Given the description of an element on the screen output the (x, y) to click on. 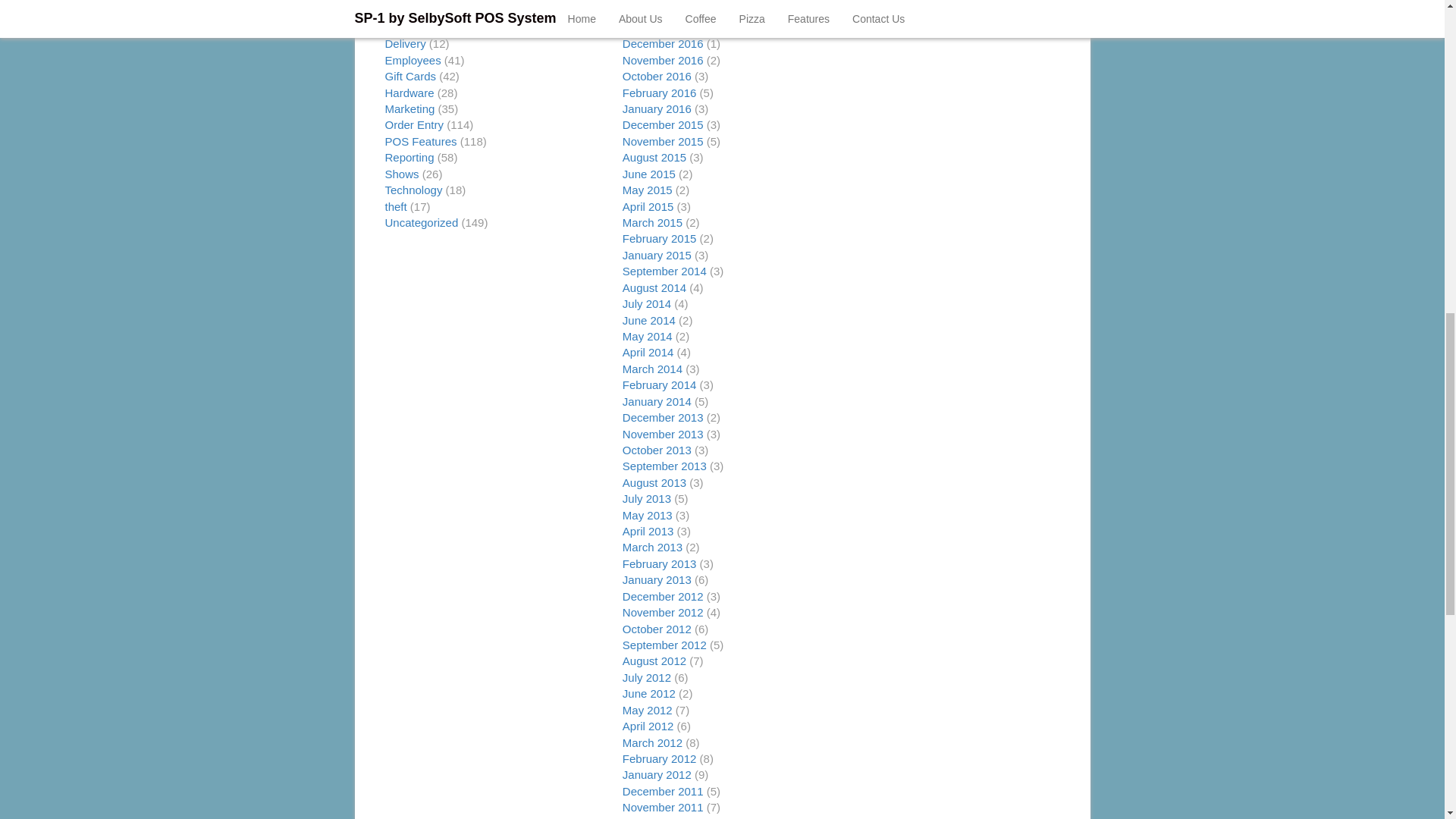
POS Features (421, 141)
Order Entry (414, 124)
November 2015 (663, 141)
February 2016 (660, 92)
December 2016 (663, 42)
Employees (413, 60)
August 2015 (654, 156)
Delivery (405, 42)
Technology (413, 189)
June 2015 (649, 173)
Gift Cards (410, 75)
Hardware (409, 92)
January 2016 (657, 108)
Shows (402, 173)
Reporting (409, 156)
